Given the description of an element on the screen output the (x, y) to click on. 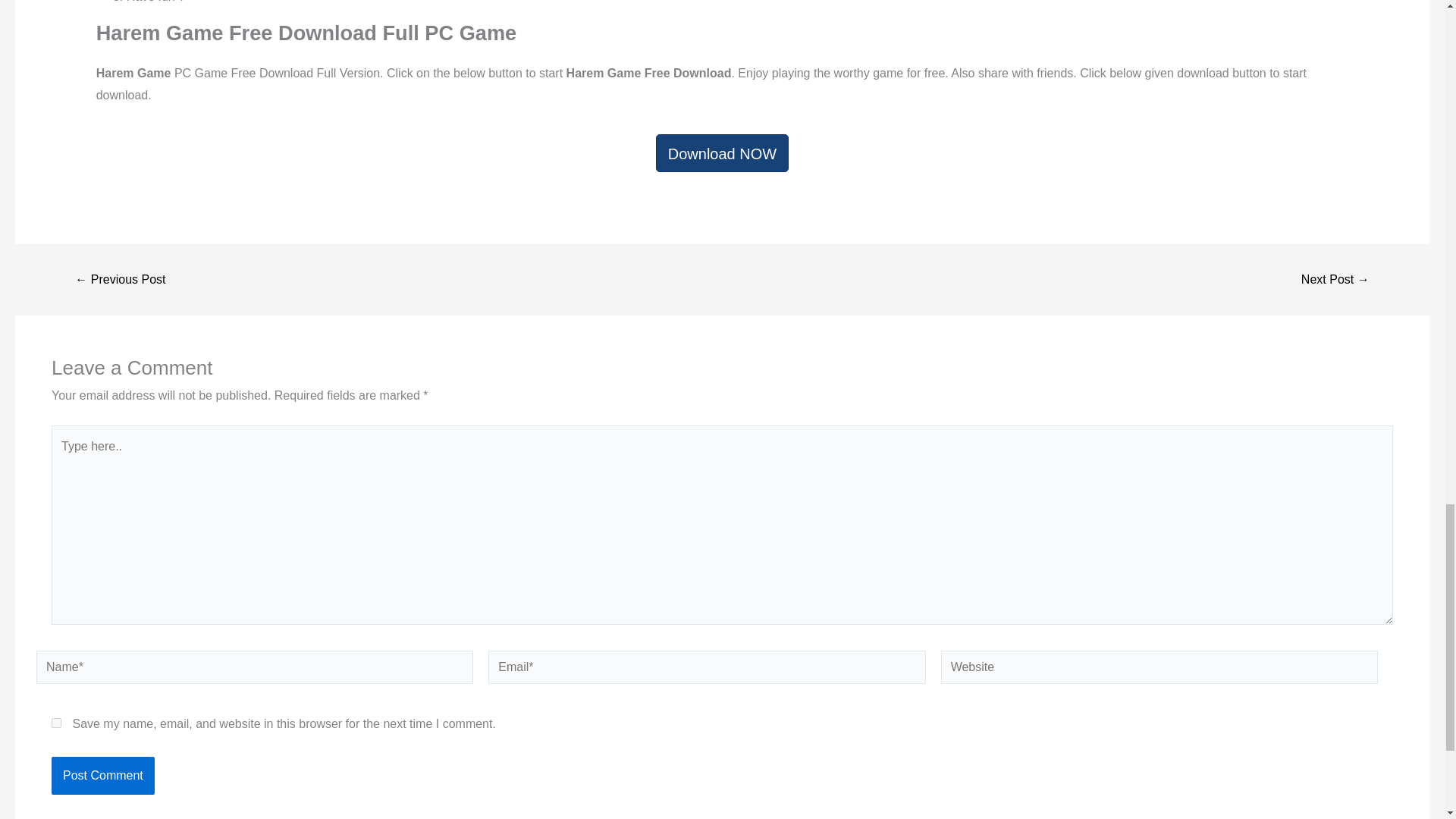
Post Comment (102, 775)
Download NOW (722, 152)
Post Comment (102, 775)
yes (55, 723)
